Given the description of an element on the screen output the (x, y) to click on. 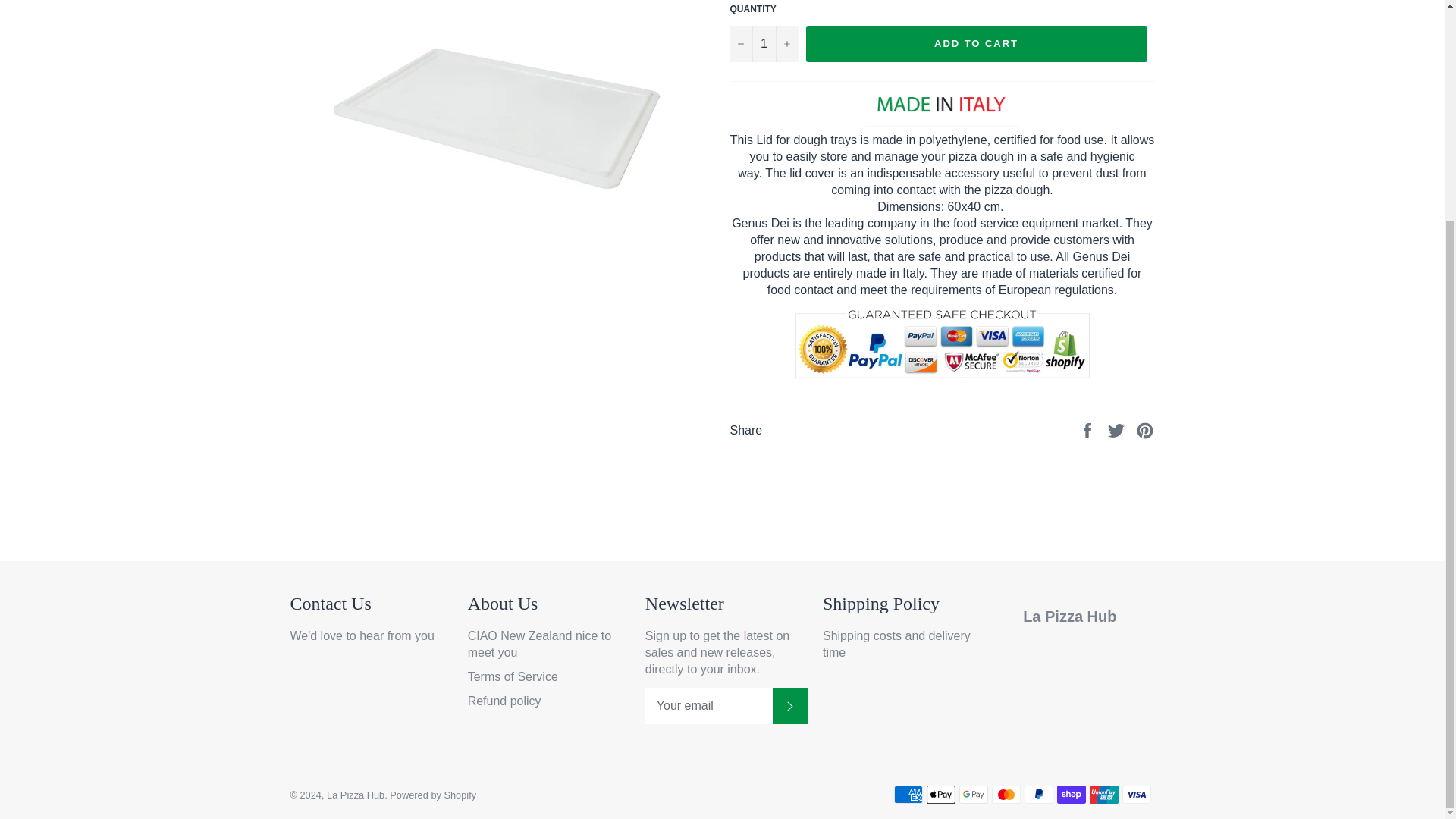
Pin on Pinterest (1144, 429)
Tweet on Twitter (1117, 429)
Share on Facebook (1088, 429)
1 (763, 43)
